Given the description of an element on the screen output the (x, y) to click on. 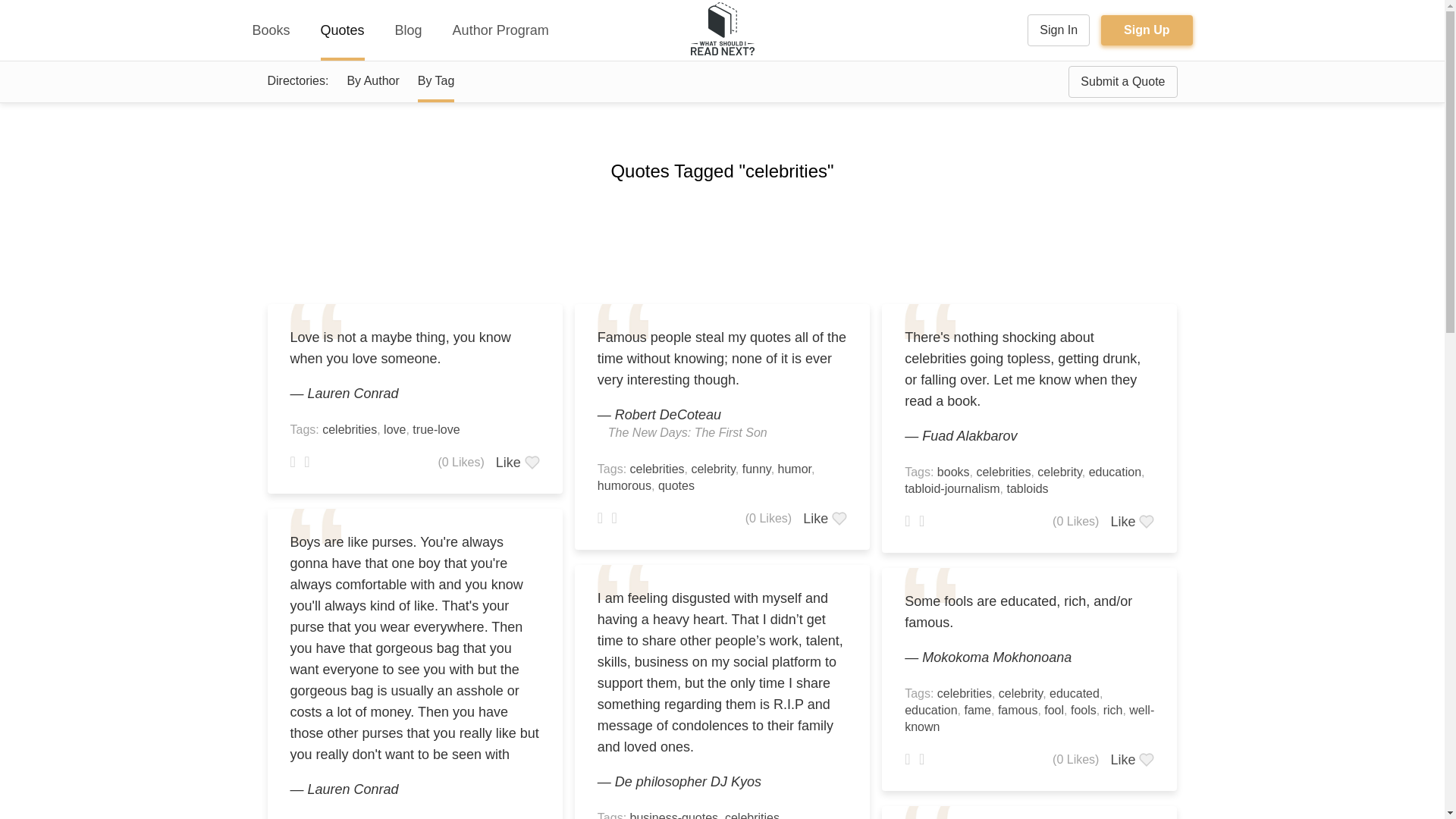
Author Program (500, 30)
Quotes (342, 30)
By Author (372, 80)
love (395, 429)
3rd party ad content (722, 239)
celebrities (349, 429)
Submit a Quote (1122, 81)
Sign In (1058, 29)
Lauren Conrad (352, 393)
